Given the description of an element on the screen output the (x, y) to click on. 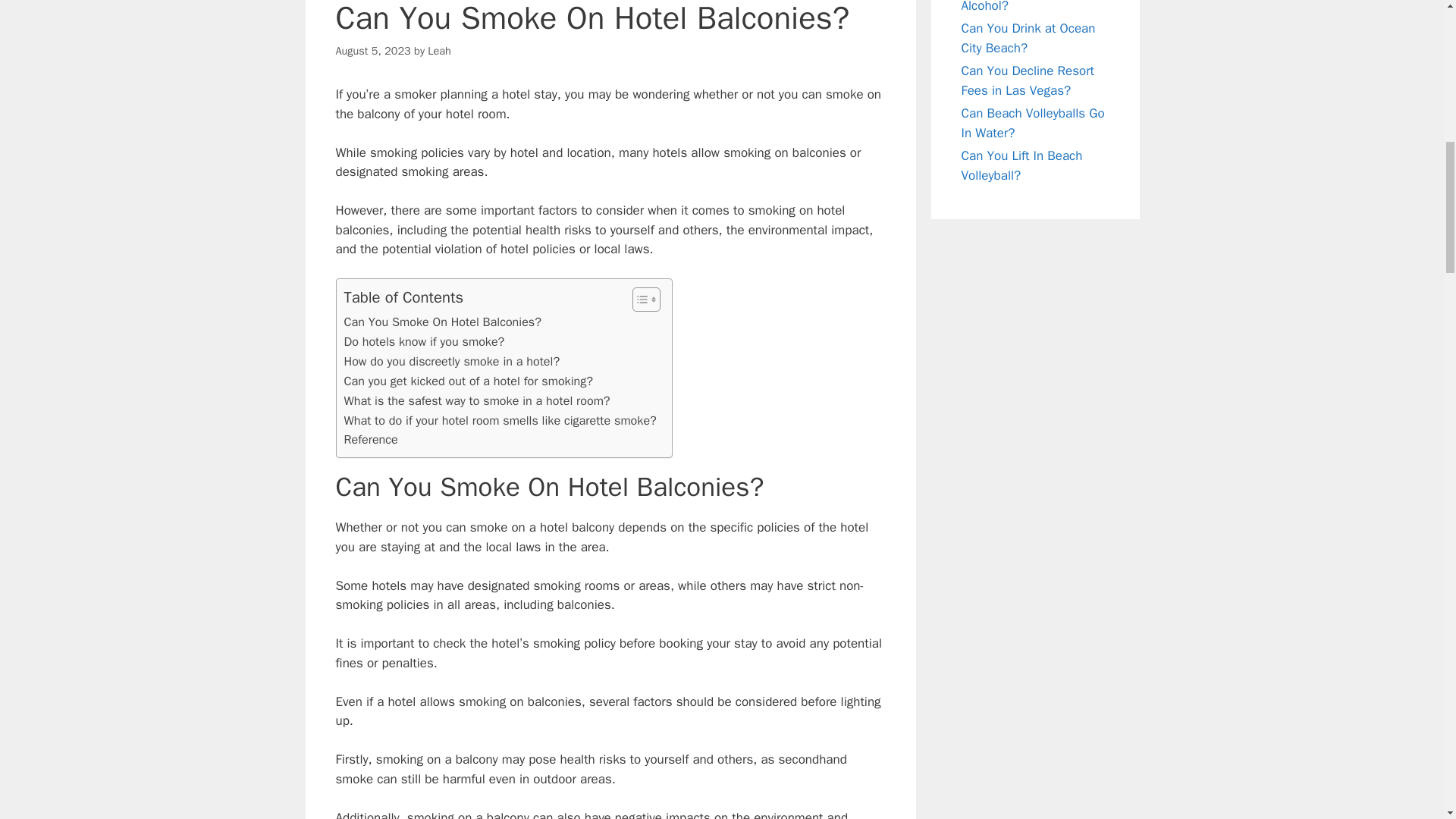
Leah (439, 50)
Can You Decline Resort Fees in Las Vegas? (1027, 80)
Do Resorts Water Down Alcohol? (1028, 6)
Do hotels know if you smoke? (424, 342)
Can You Smoke On Hotel Balconies? (442, 322)
Can you get kicked out of a hotel for smoking? (468, 381)
What is the safest way to smoke in a hotel room? (476, 401)
Reference (370, 439)
What to do if your hotel room smells like cigarette smoke? (499, 420)
Reference (370, 439)
